Given the description of an element on the screen output the (x, y) to click on. 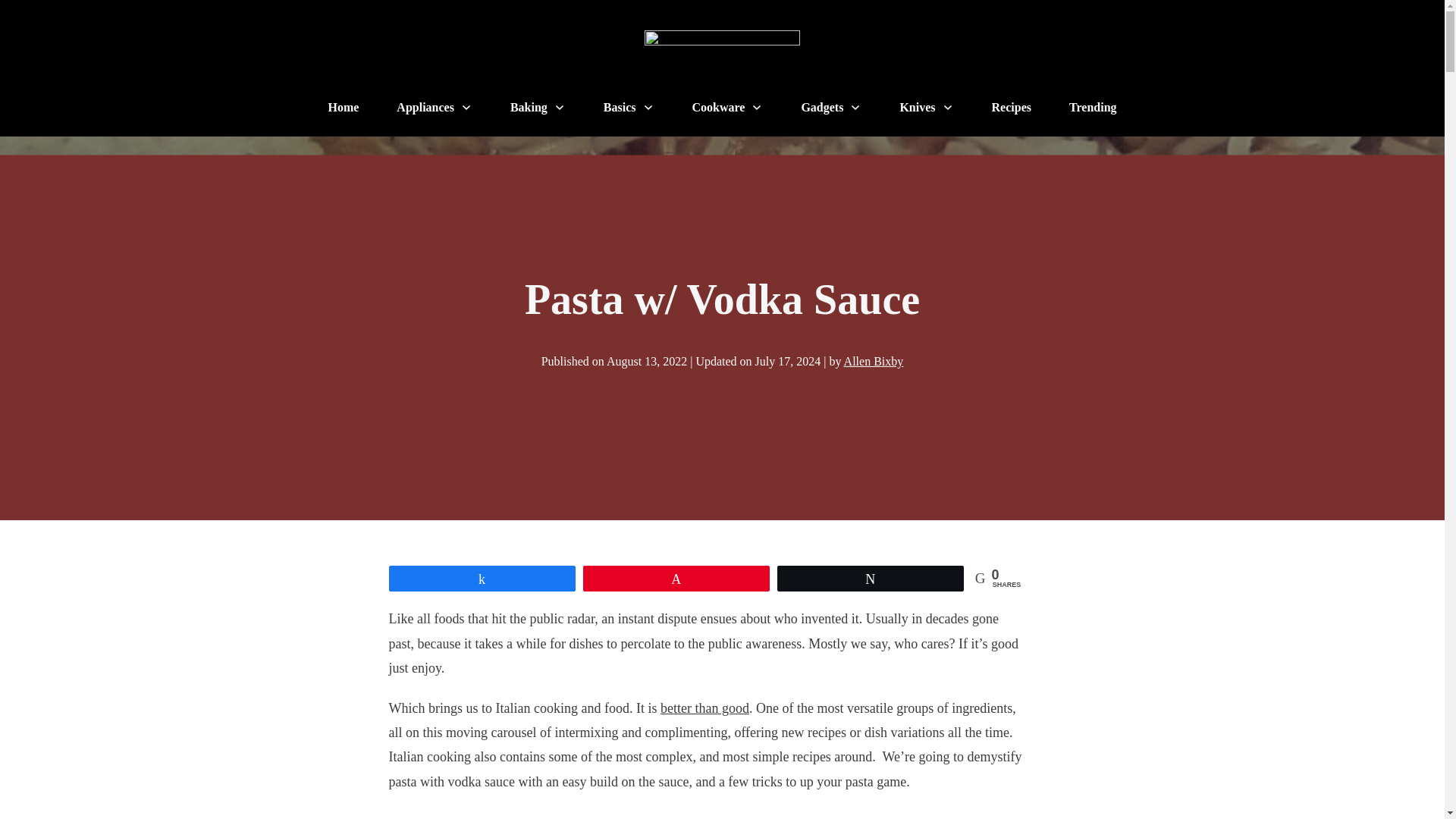
better than good (705, 708)
Knives (926, 107)
Recipes (1010, 107)
Basics (628, 107)
Allen Bixby (874, 360)
Home (342, 107)
Baking (538, 107)
Appliances (433, 107)
Trending (1092, 107)
cwj-logo-header (722, 54)
